Given the description of an element on the screen output the (x, y) to click on. 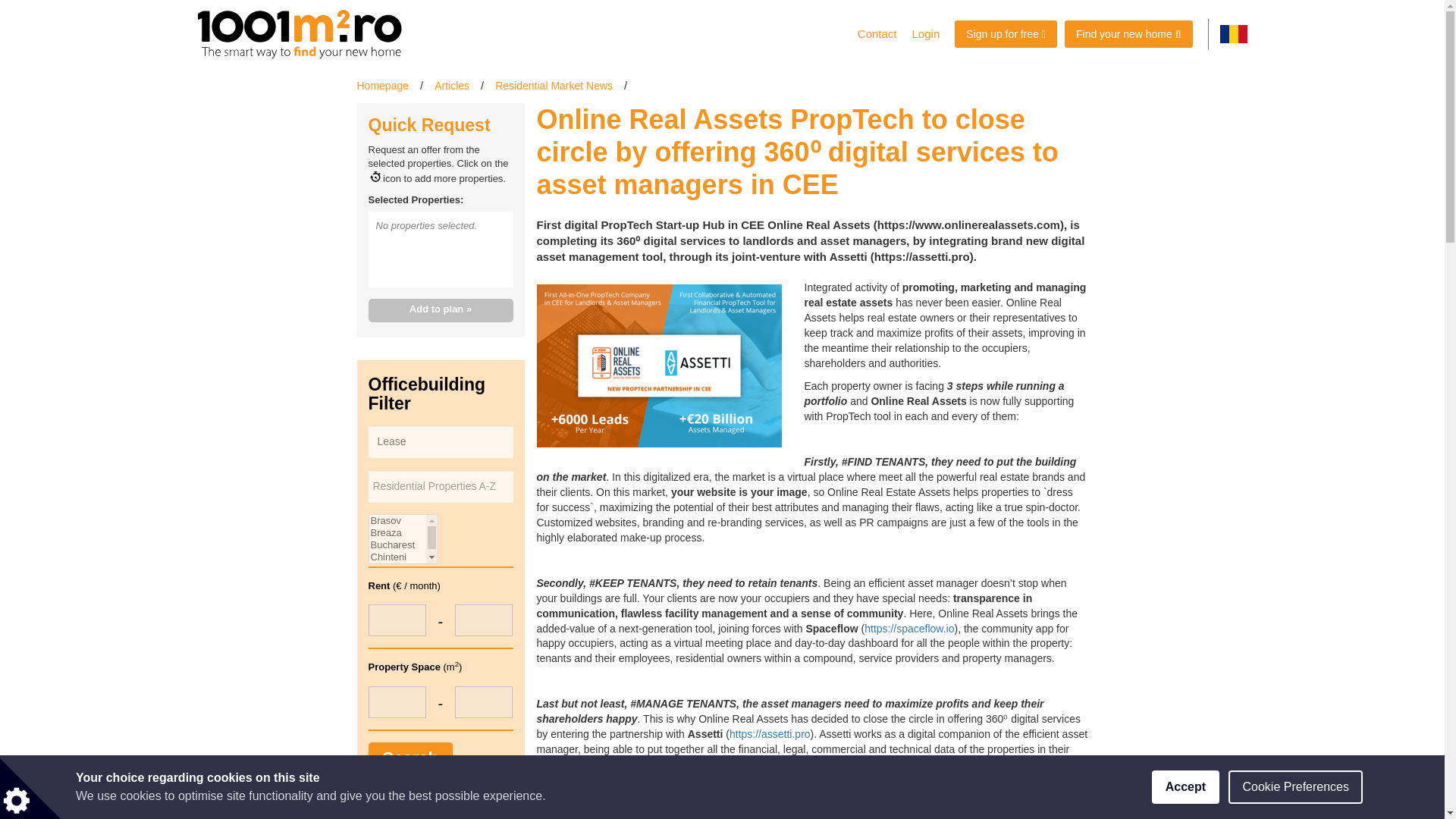
Add Property (1006, 33)
Articles (450, 85)
Residential Market News (553, 85)
Sign up for free (1006, 33)
Cookie settings icon (30, 788)
Add to plan (441, 310)
Homepage (382, 85)
Search (410, 757)
Login (925, 33)
Find your new home (1128, 33)
Contact (877, 33)
